Given the description of an element on the screen output the (x, y) to click on. 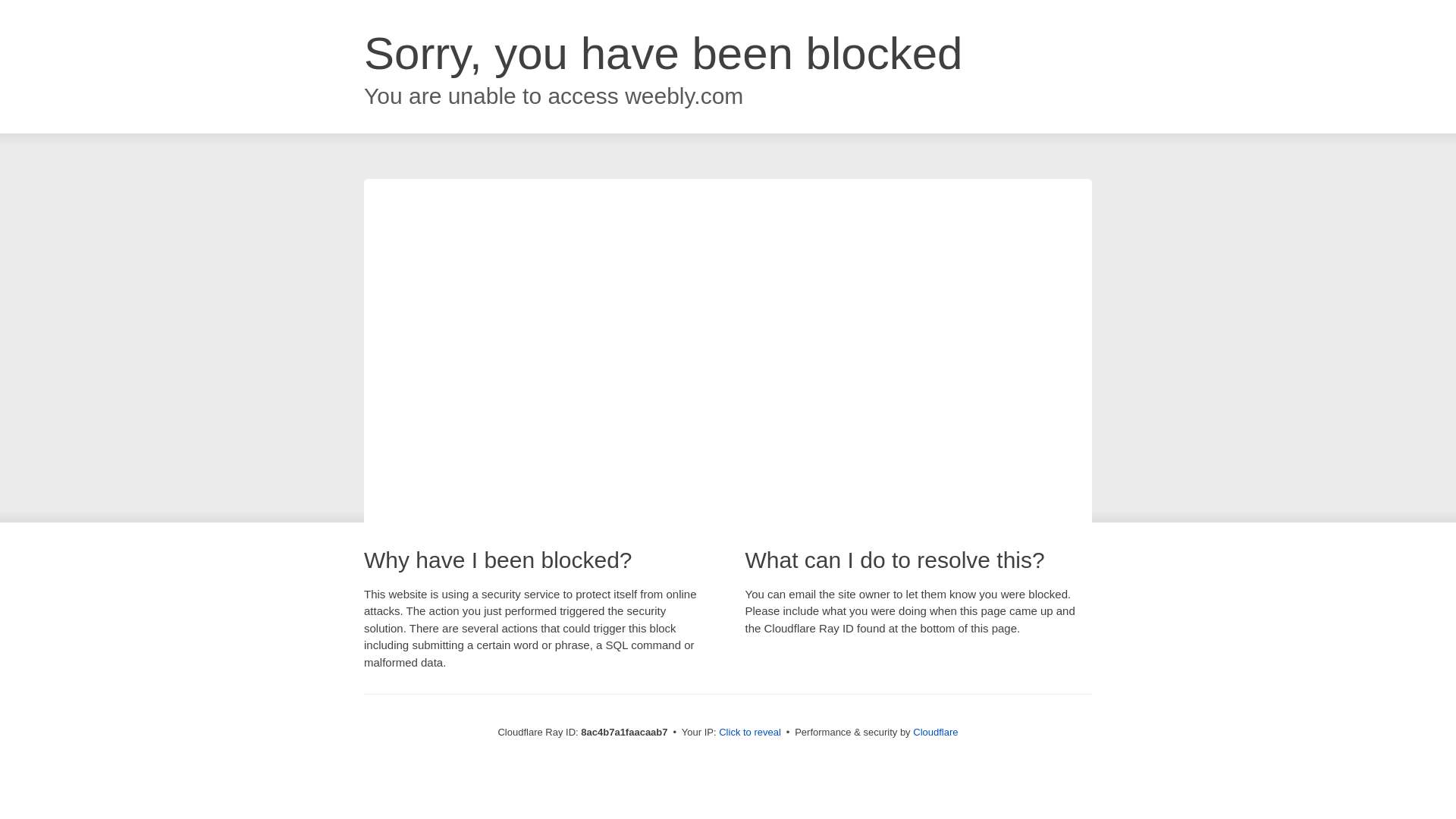
Click to reveal (749, 732)
Cloudflare (935, 731)
